Given the description of an element on the screen output the (x, y) to click on. 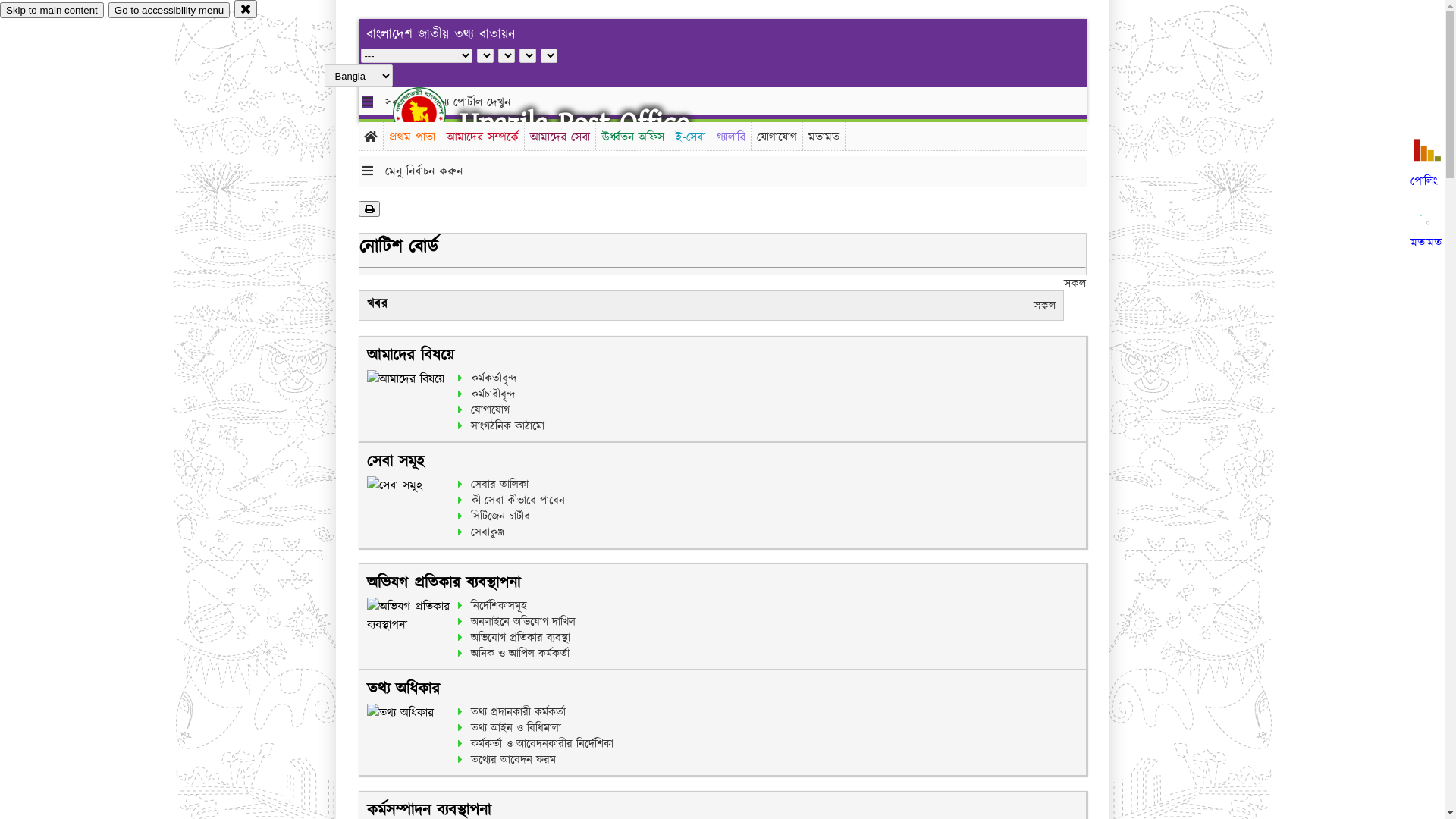
Go to accessibility menu Element type: text (168, 10)

                
             Element type: hover (431, 112)
Skip to main content Element type: text (51, 10)
close Element type: hover (245, 9)
Upazila Post Office Element type: text (574, 123)
